Given the description of an element on the screen output the (x, y) to click on. 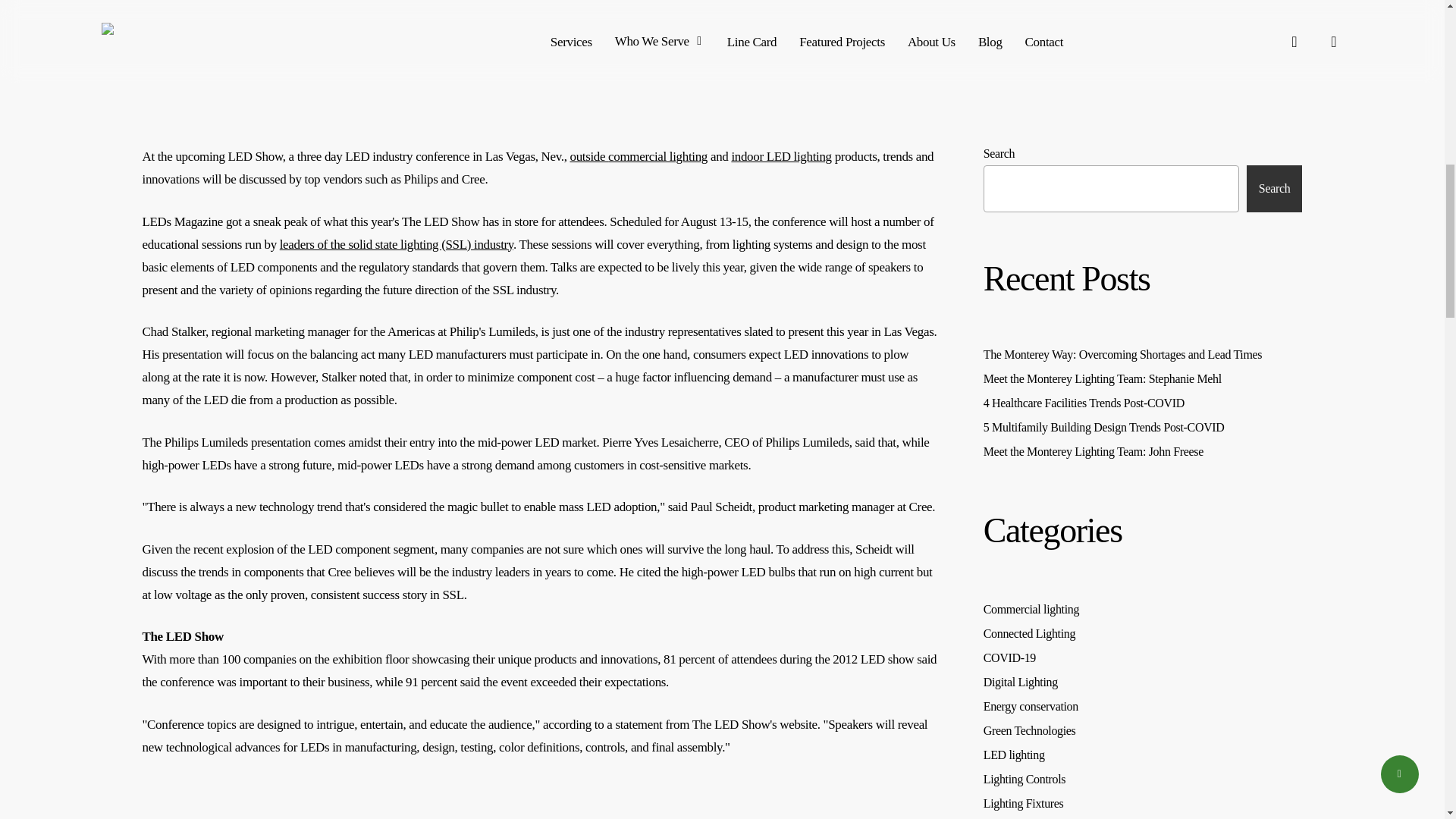
Energy conservation (1143, 706)
indoor LED lighting (780, 156)
commercial lighting (657, 156)
Digital Lighting (1143, 682)
5 Multifamily Building Design Trends Post-COVID (1143, 427)
Connected Lighting (1143, 633)
Meet the Monterey Lighting Team: Stephanie Mehl (1143, 379)
Commercial lighting (1143, 609)
Meet the Monterey Lighting Team: John Freese (1143, 452)
Green Technologies (1143, 730)
